Given the description of an element on the screen output the (x, y) to click on. 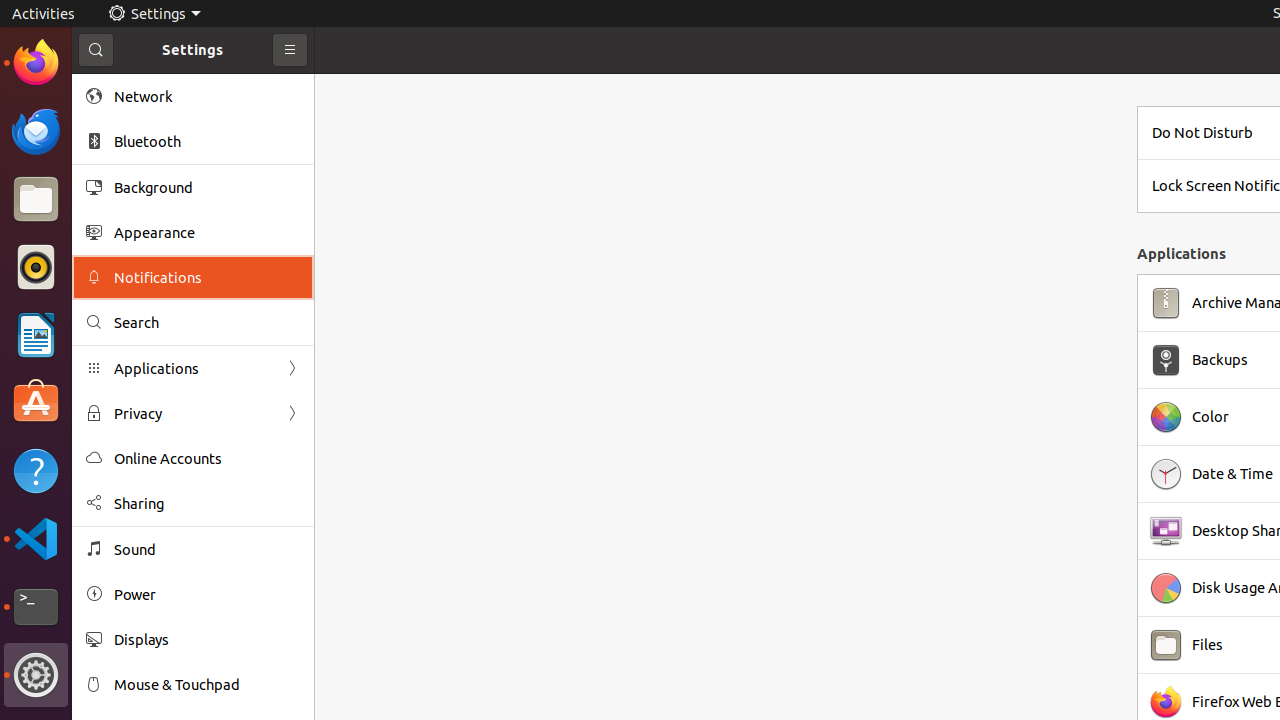
Backups Element type: label (1220, 360)
Primary Menu Element type: toggle-button (290, 50)
Mouse & Touchpad Element type: label (207, 684)
Background Element type: label (207, 187)
